Given the description of an element on the screen output the (x, y) to click on. 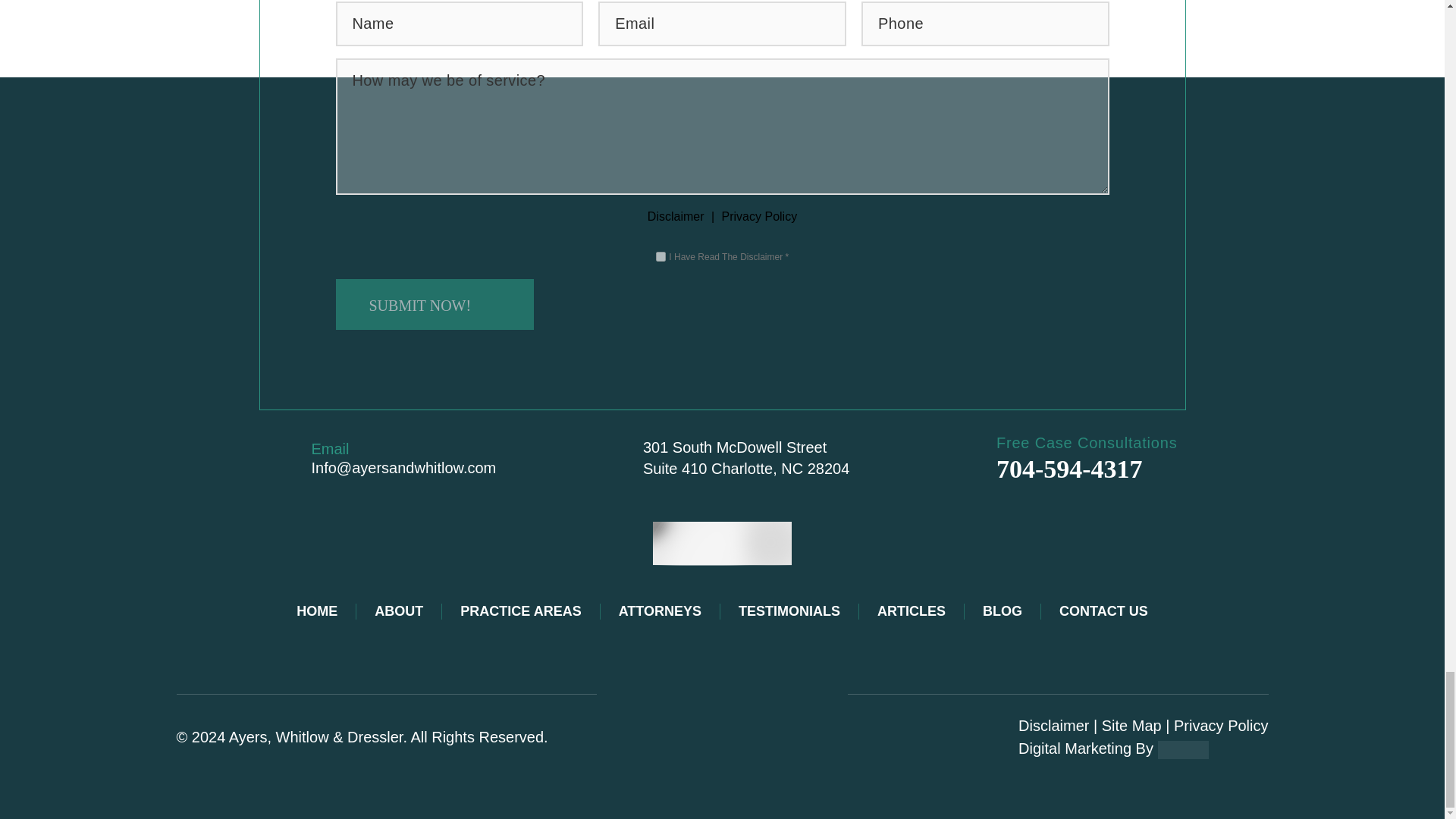
Submit Now! (434, 304)
